Given the description of an element on the screen output the (x, y) to click on. 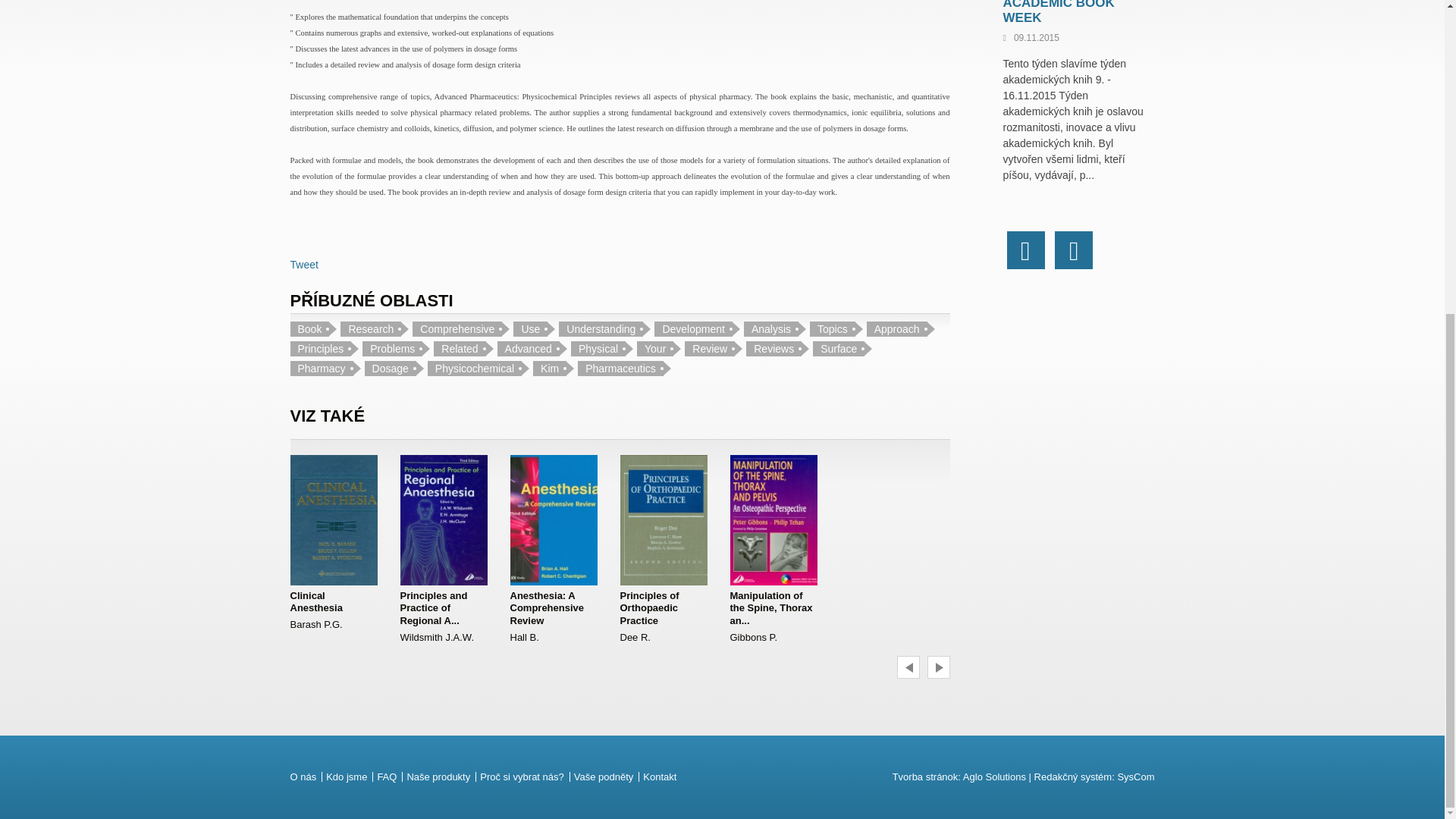
Twitter (1073, 249)
Facebook (1026, 249)
